Given the description of an element on the screen output the (x, y) to click on. 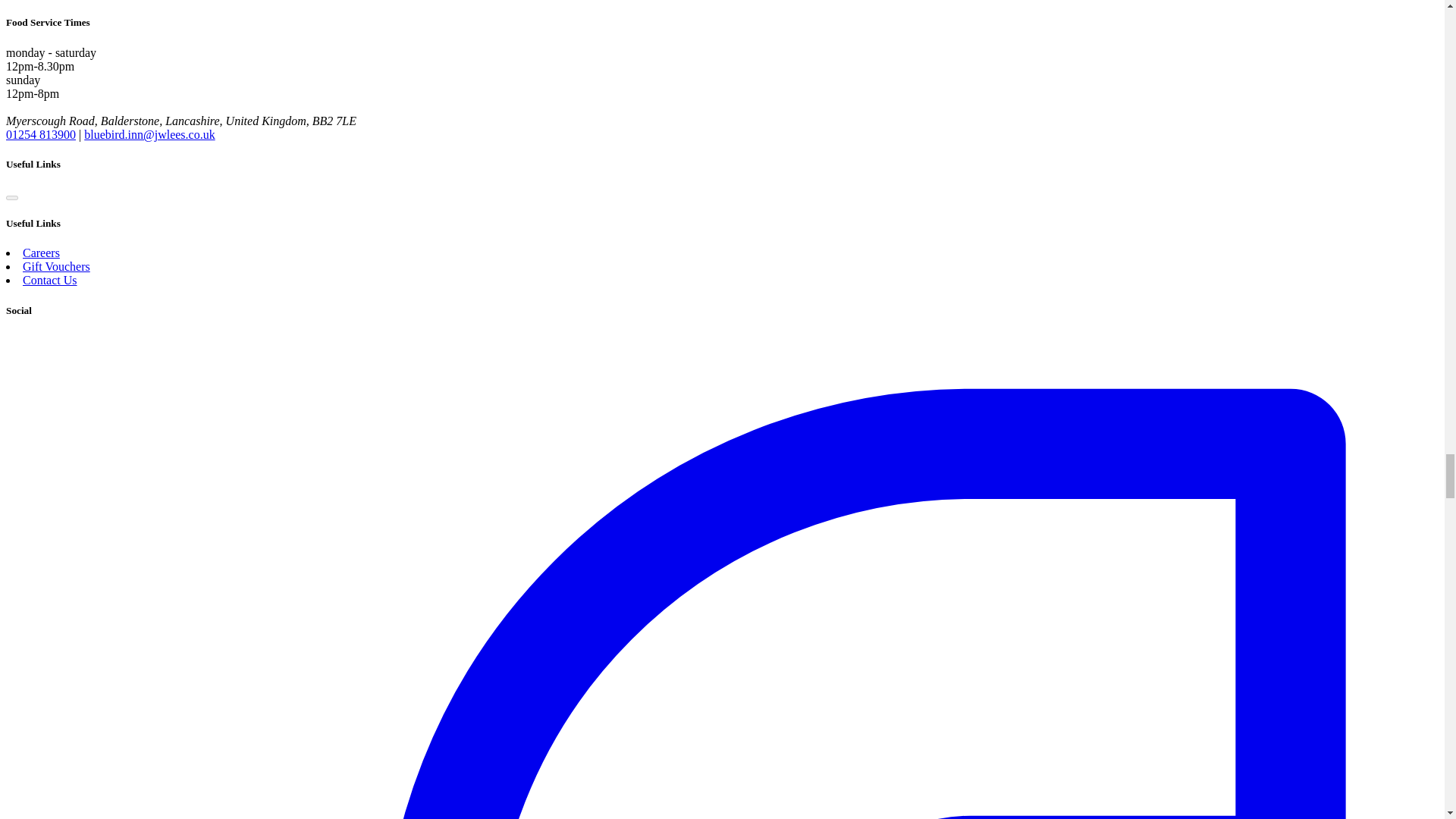
01254 813900 (40, 133)
